Given the description of an element on the screen output the (x, y) to click on. 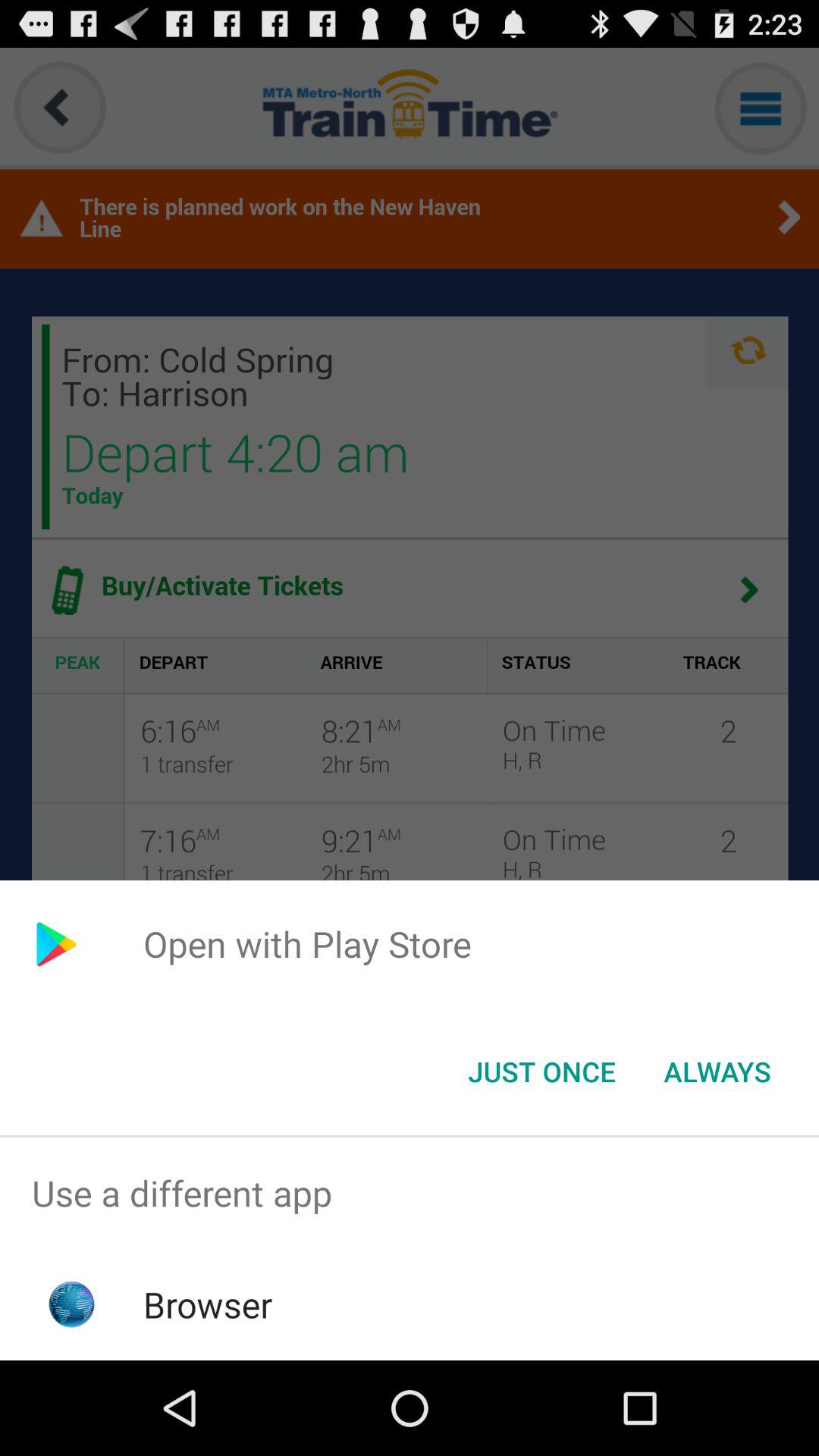
swipe until the use a different item (409, 1192)
